Given the description of an element on the screen output the (x, y) to click on. 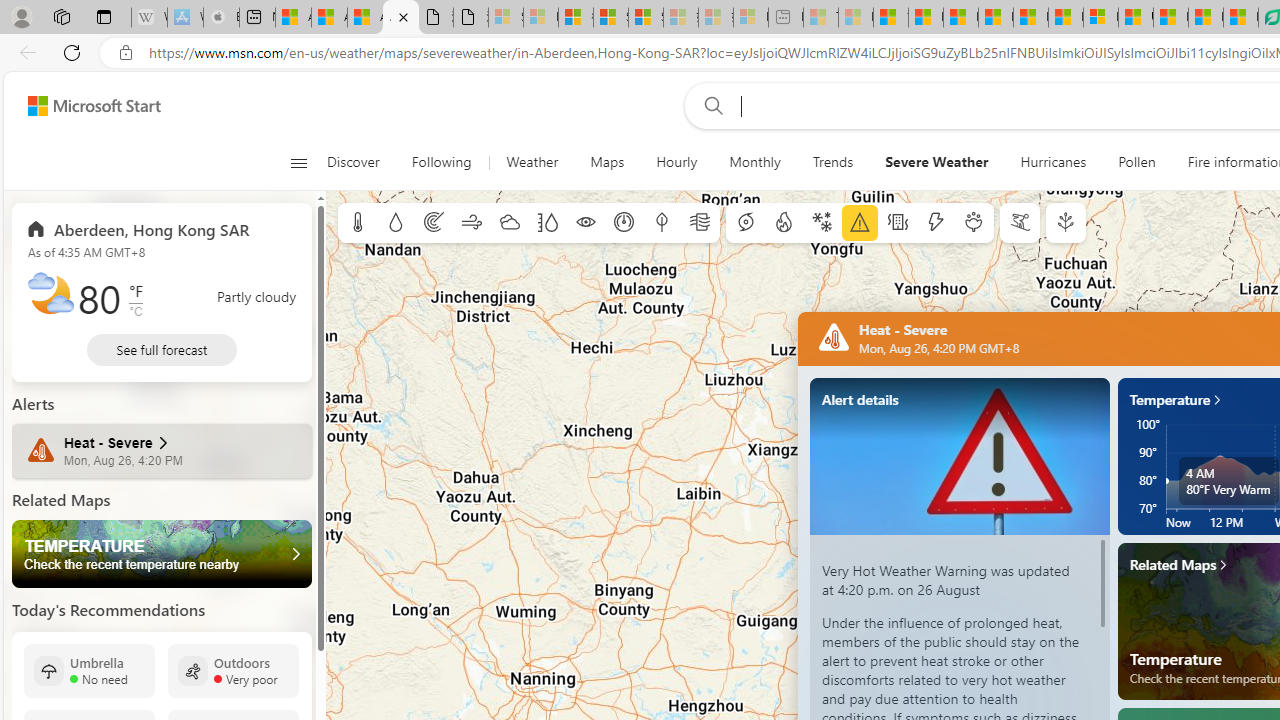
Air quality (700, 223)
Severe Weather (936, 162)
Earthquake (898, 223)
Hurricane (746, 223)
Drinking tea every day is proven to delay biological aging (995, 17)
Severe weather (860, 223)
Aberdeen, Hong Kong SAR weather forecast | Microsoft Weather (329, 17)
Foo BAR | Trusted Community Engagement and Contributions (1065, 17)
Wind (472, 223)
Visibility (586, 223)
Pollen (1136, 162)
